Given the description of an element on the screen output the (x, y) to click on. 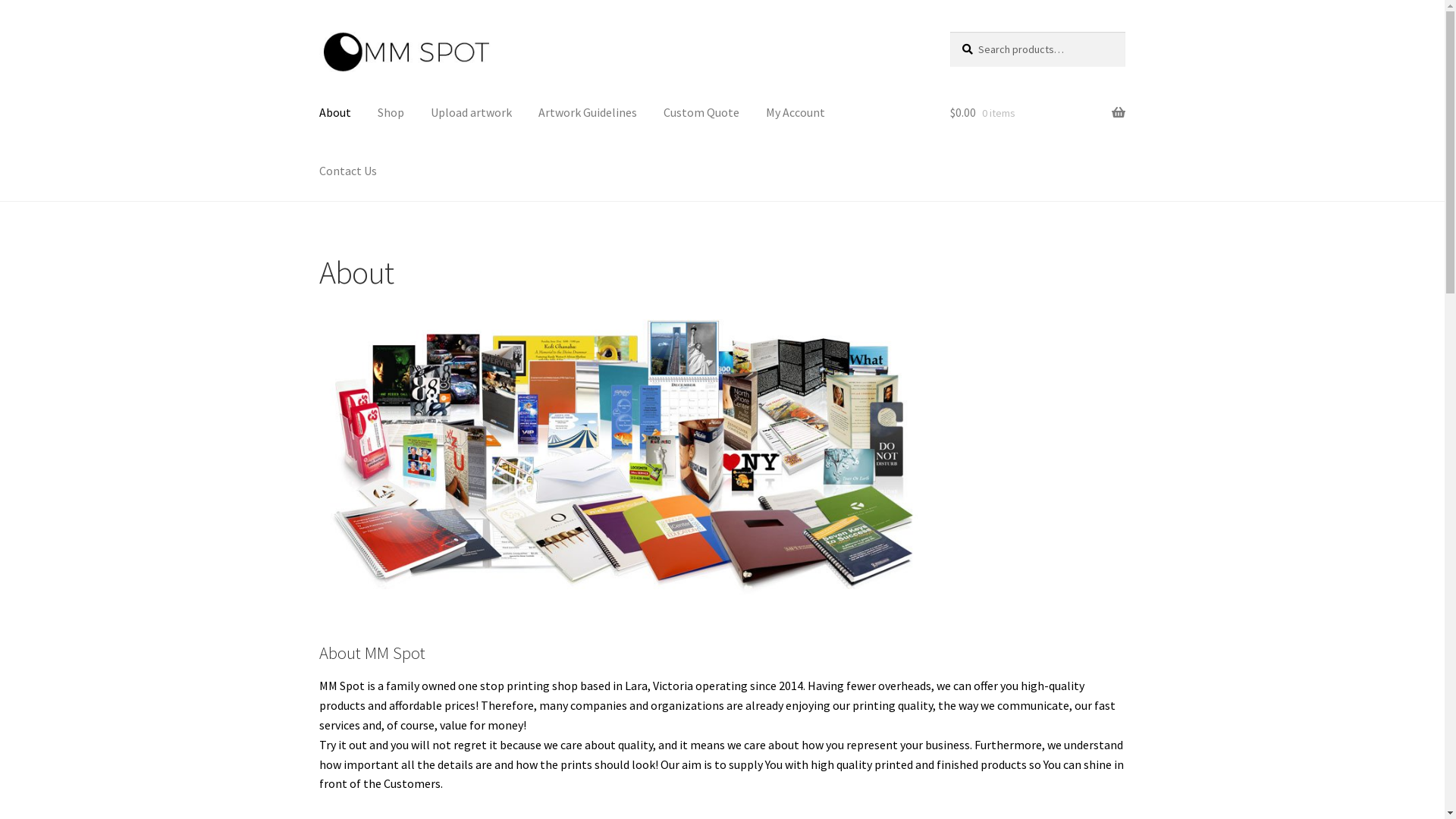
Artwork Guidelines Element type: text (587, 112)
Custom Quote Element type: text (701, 112)
Skip to navigation Element type: text (318, 31)
$0.00 0 items Element type: text (1037, 112)
Search Element type: text (949, 31)
Terms & Conditions Element type: text (861, 47)
About Element type: text (335, 112)
My Account Element type: text (795, 112)
Contact Us Element type: text (348, 170)
Refund and Returns Policy Element type: text (737, 47)
Upload artwork Element type: text (471, 112)
Shop Element type: text (390, 112)
About MM Spot Element type: hover (622, 453)
